Given the description of an element on the screen output the (x, y) to click on. 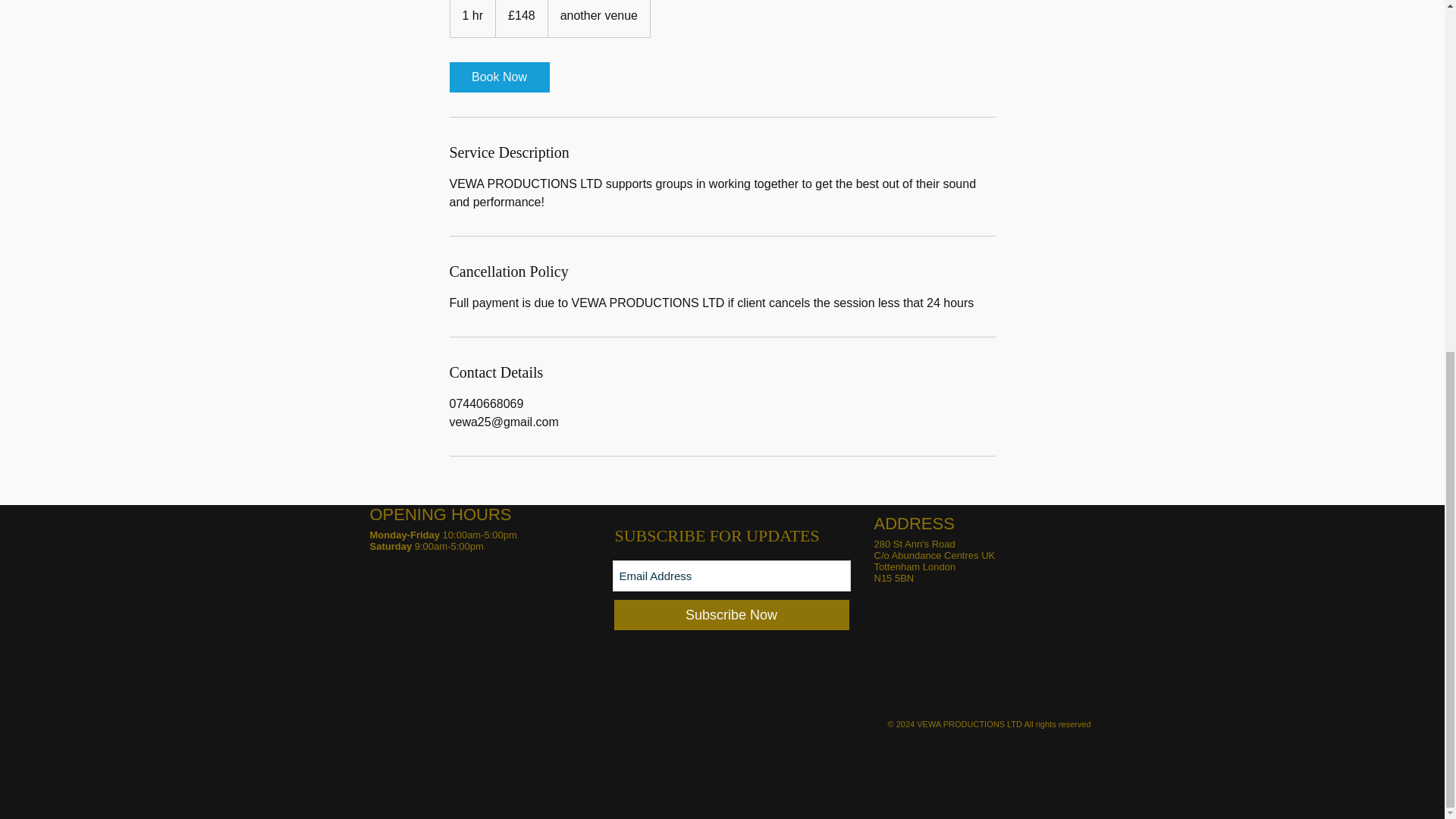
Subscribe Now (731, 614)
Book Now (498, 77)
